Given the description of an element on the screen output the (x, y) to click on. 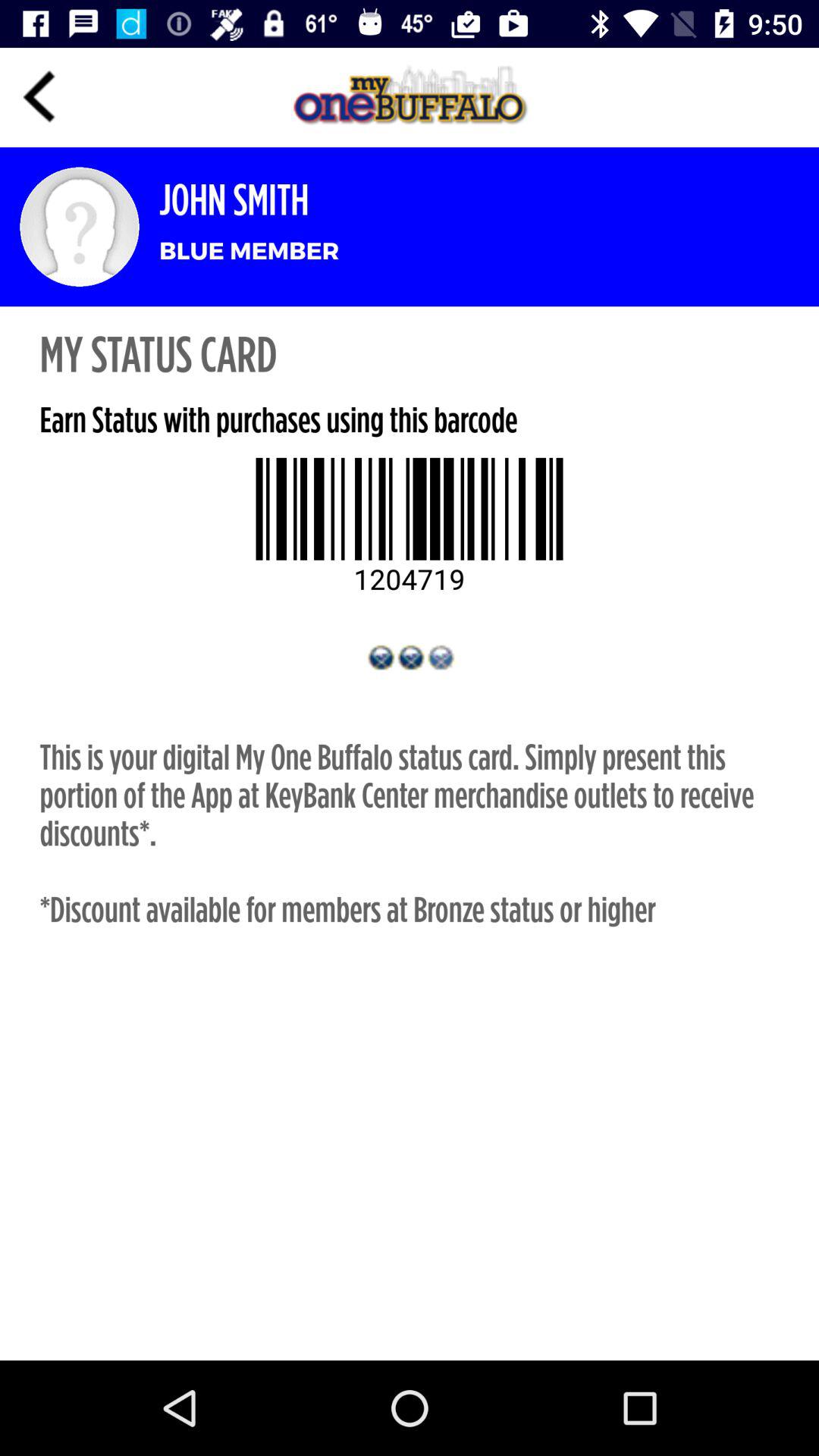
go back (39, 97)
